Given the description of an element on the screen output the (x, y) to click on. 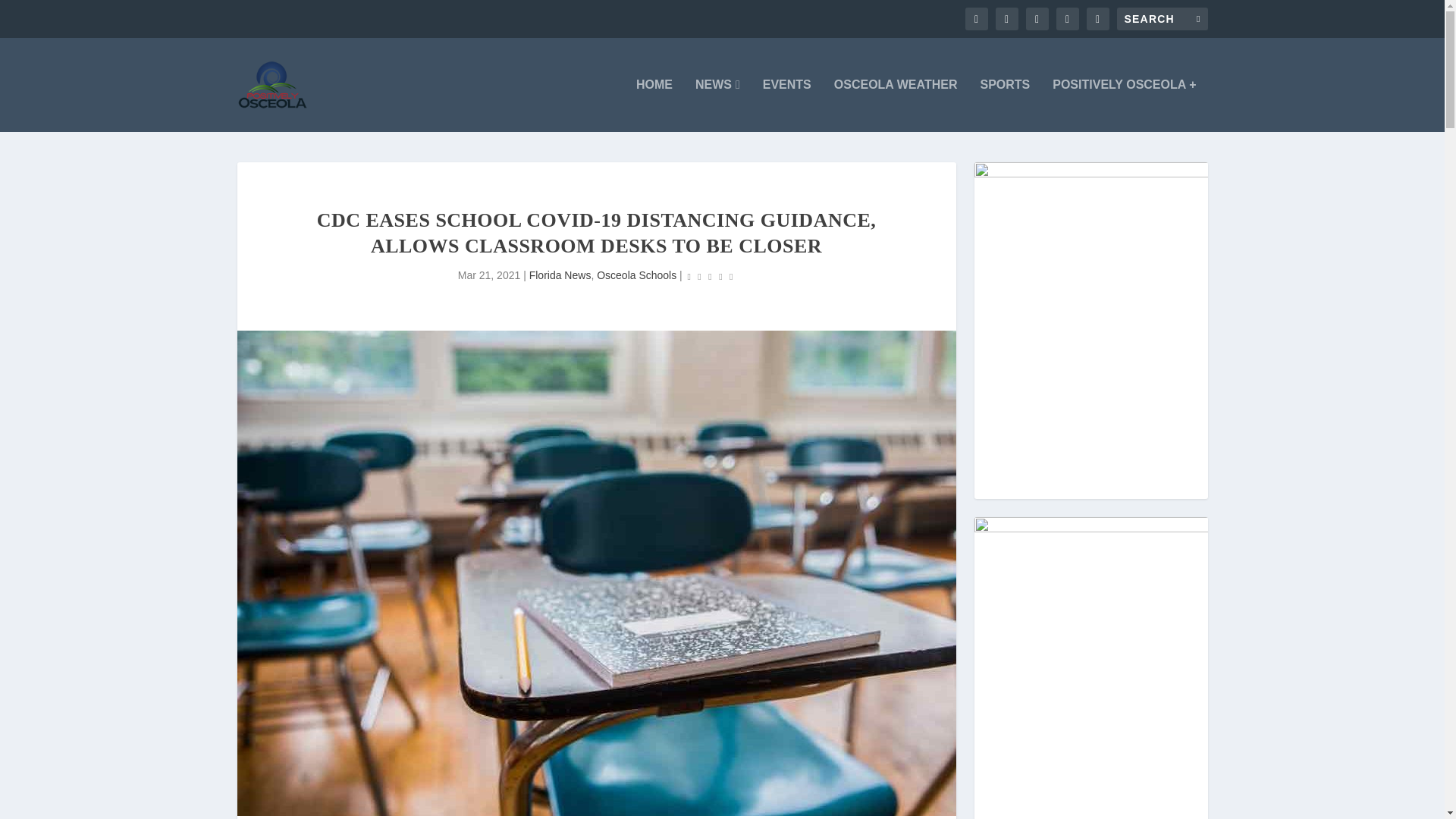
Rating: 0.00 (710, 275)
Search for: (1161, 18)
SPORTS (1004, 104)
EVENTS (786, 104)
OSCEOLA WEATHER (896, 104)
Osceola Schools (636, 275)
Florida News (560, 275)
